Given the description of an element on the screen output the (x, y) to click on. 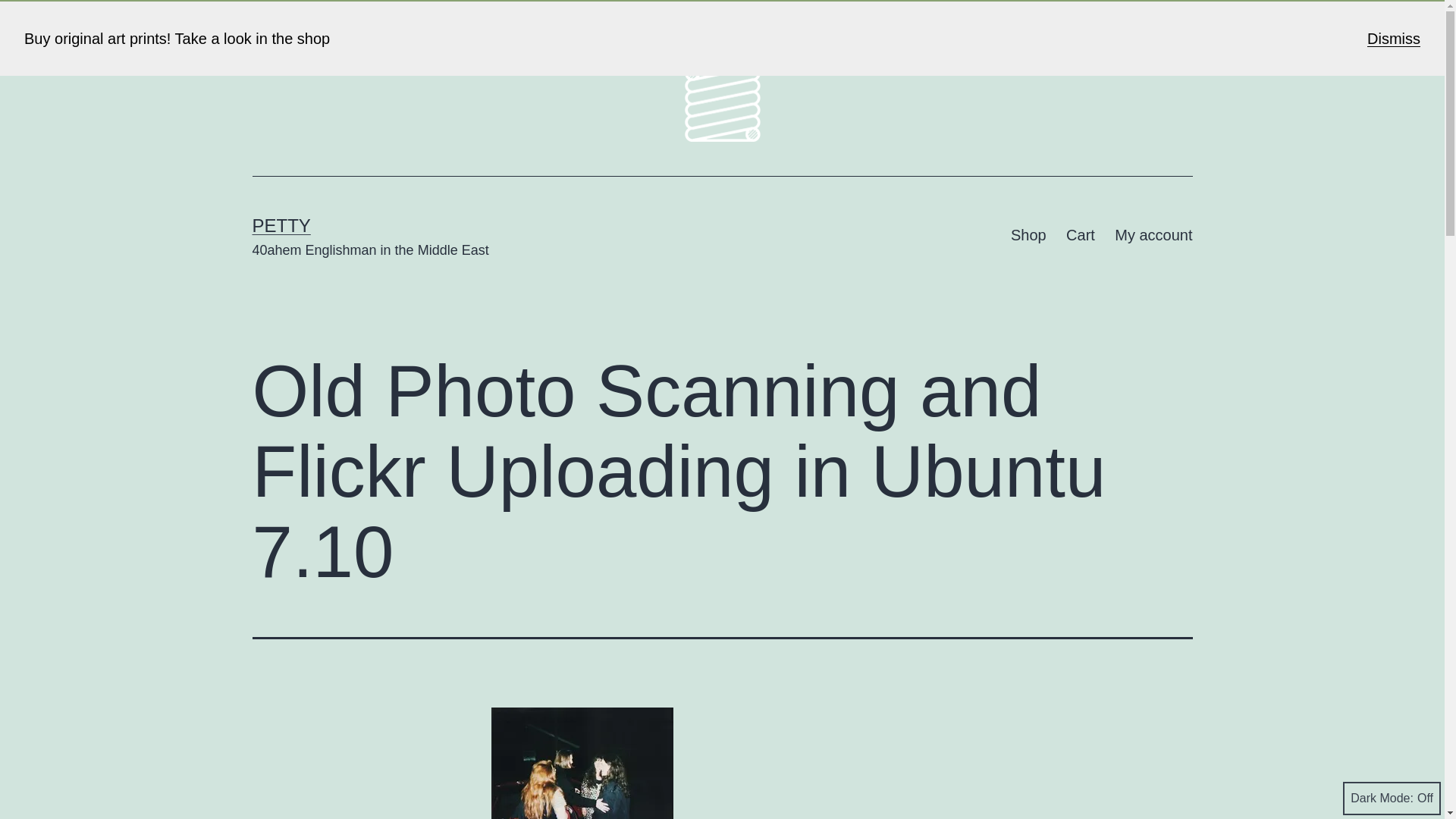
My account (1153, 235)
Shop (1029, 235)
Dark Mode: (1391, 798)
Dismiss (1394, 38)
PETTY (280, 225)
Cart (1081, 235)
